Given the description of an element on the screen output the (x, y) to click on. 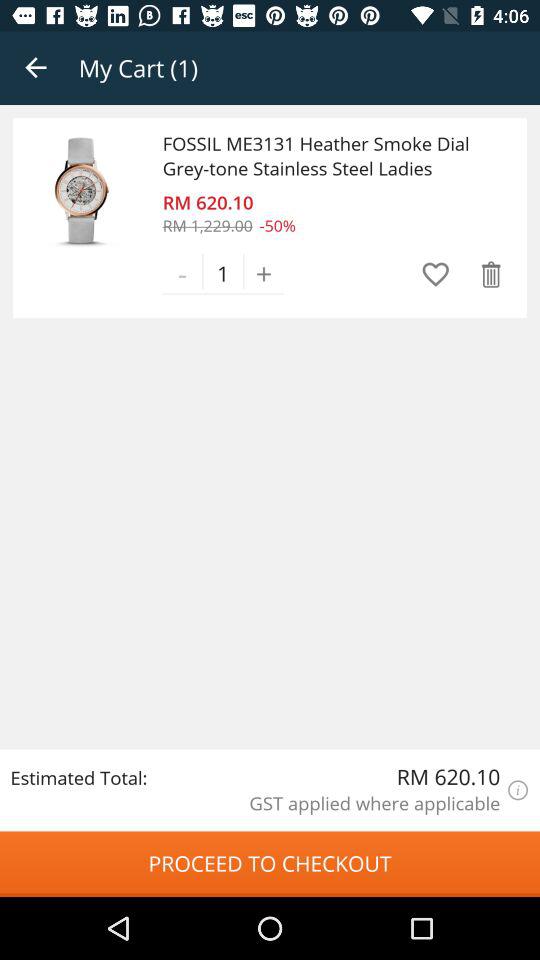
swipe to the - item (182, 273)
